Given the description of an element on the screen output the (x, y) to click on. 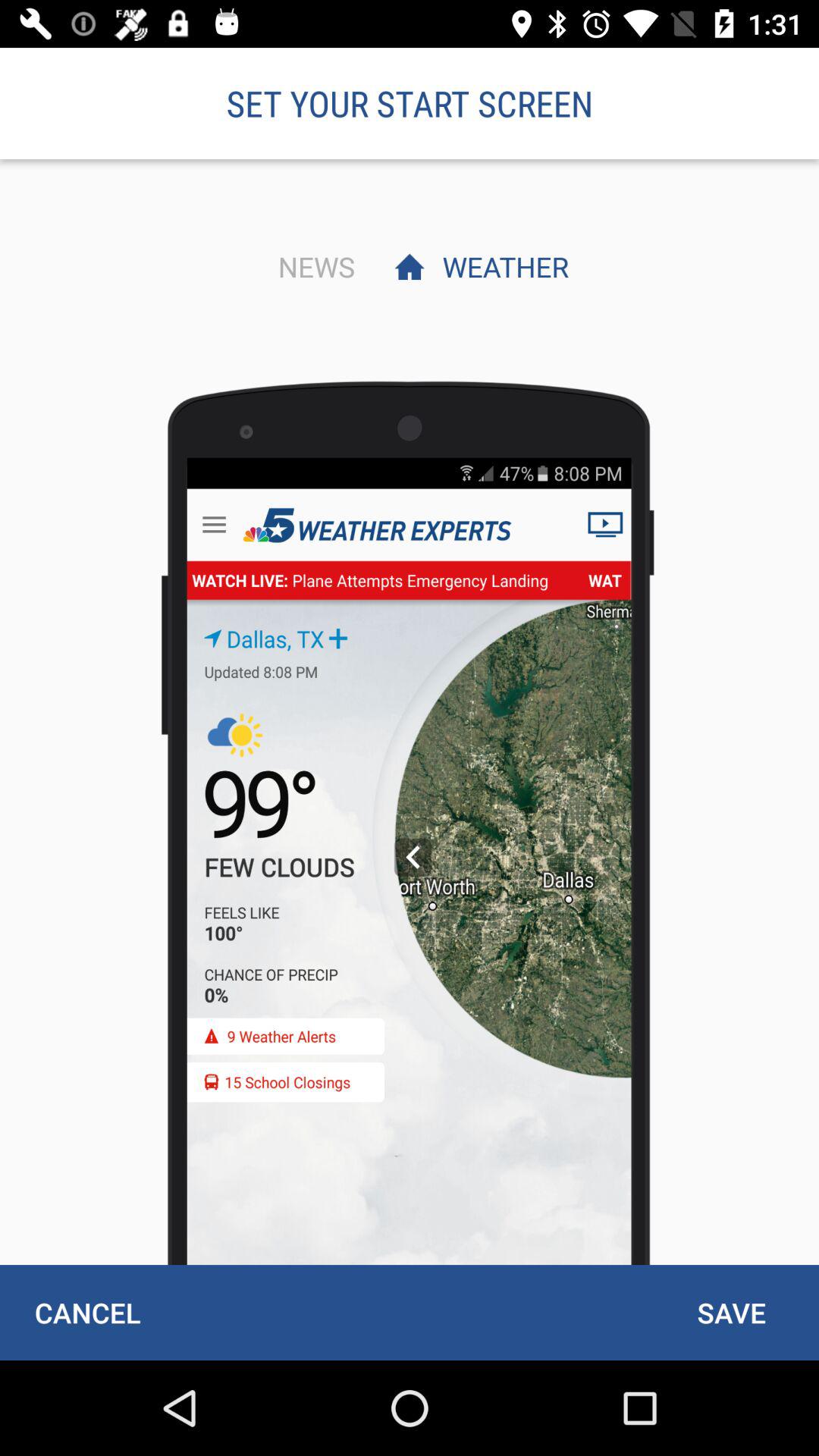
turn off the item next to the weather (312, 266)
